Given the description of an element on the screen output the (x, y) to click on. 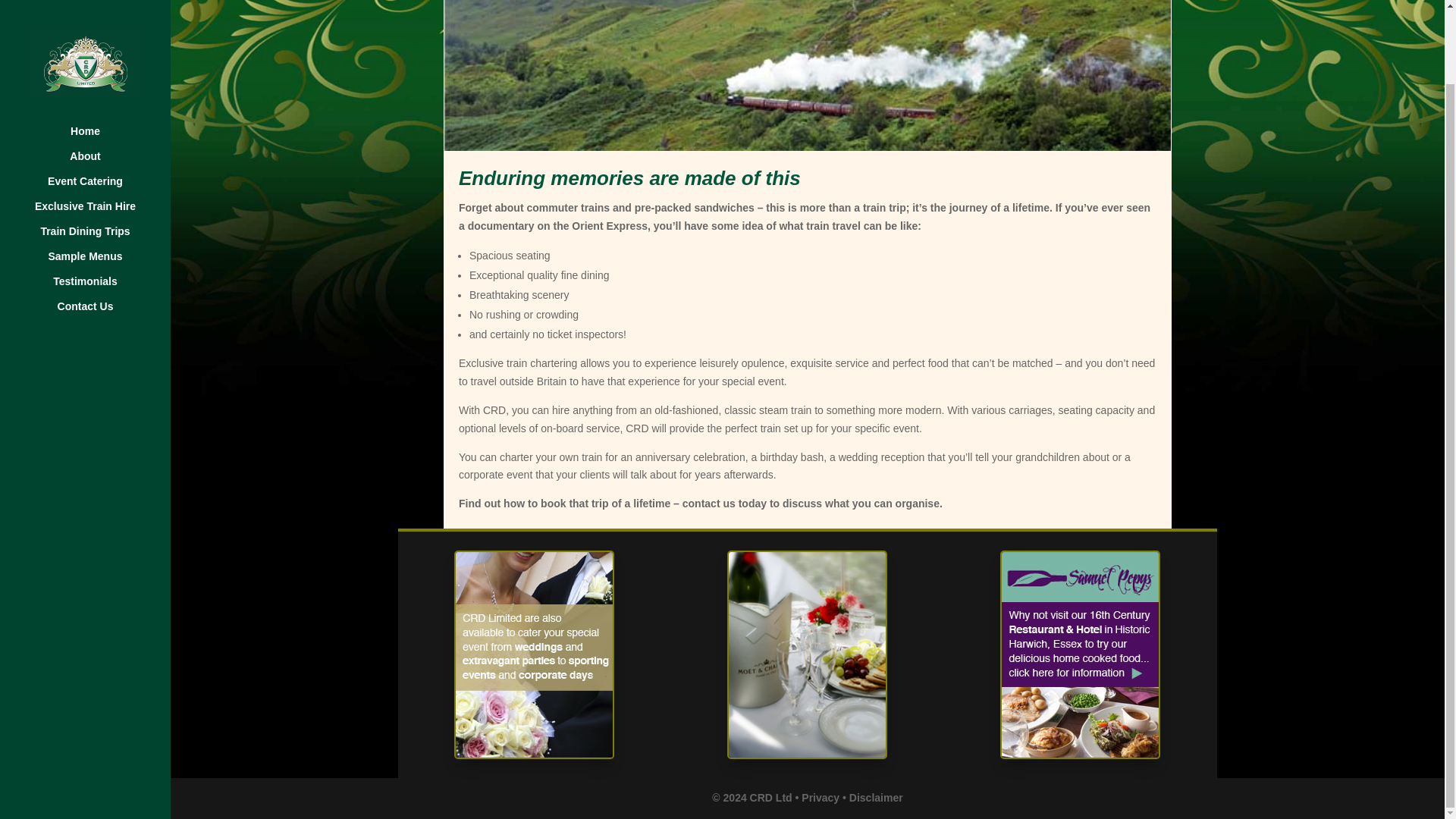
Sample Menus (100, 180)
Disclaimer (875, 797)
Train Dining Trips (100, 155)
Privacy (821, 797)
Exclusive Train Hire (100, 130)
Event Catering (100, 105)
Contact Us (100, 230)
Testimonials (100, 205)
Home (100, 55)
About (100, 80)
